Given the description of an element on the screen output the (x, y) to click on. 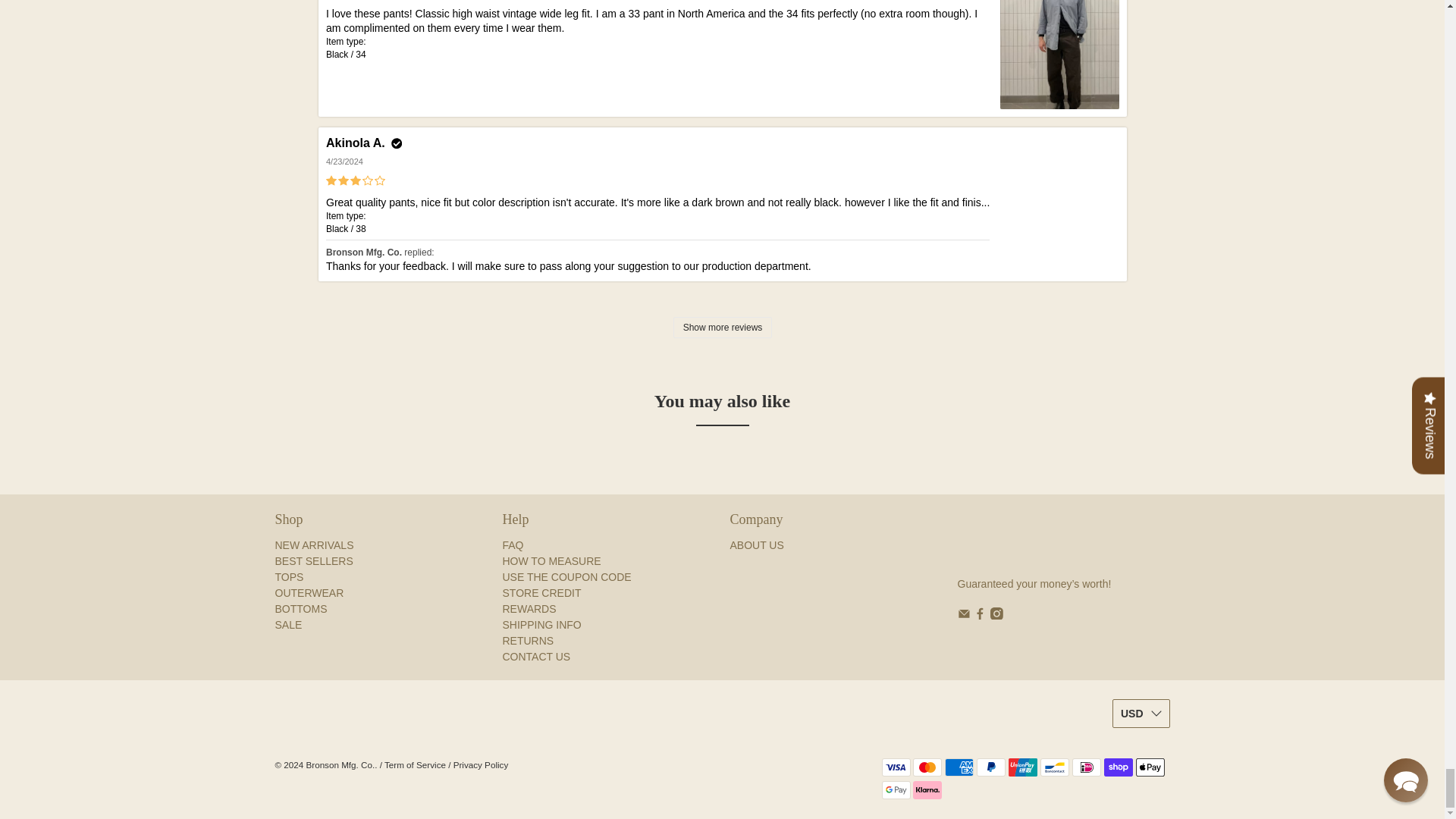
Visa (895, 767)
